Given the description of an element on the screen output the (x, y) to click on. 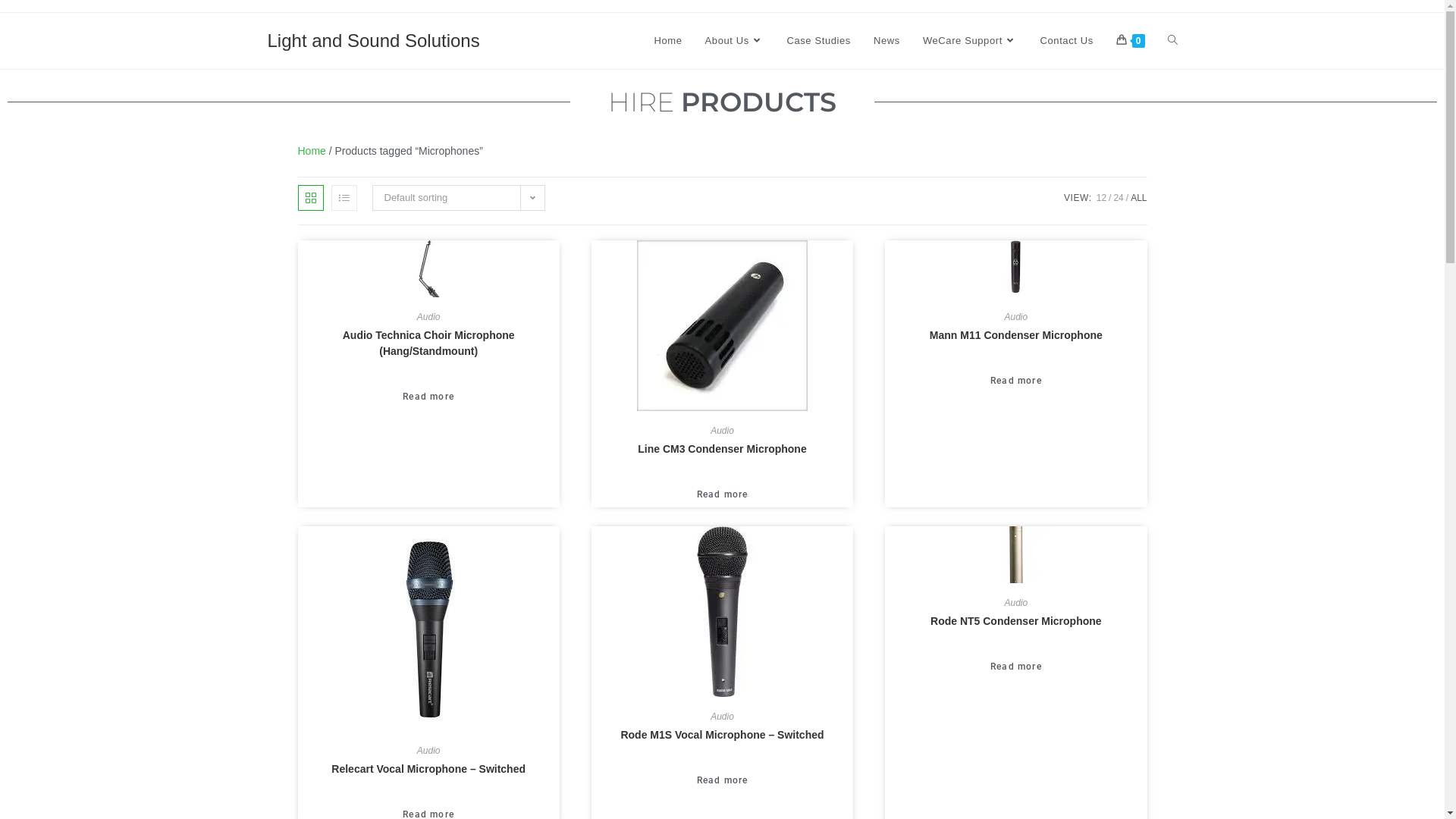
Home Element type: text (667, 40)
12 Element type: text (1101, 197)
Audio Element type: text (722, 430)
Home Element type: text (311, 150)
Line CM3 Condenser Microphone Element type: text (721, 449)
Read more Element type: text (1016, 380)
Audio Element type: text (1015, 316)
WeCare Support Element type: text (970, 40)
Audio Element type: text (722, 716)
24 Element type: text (1118, 197)
Audio Element type: text (1015, 602)
About Us Element type: text (734, 40)
Audio Element type: text (428, 316)
Read more Element type: text (722, 494)
Read more Element type: text (1016, 666)
Audio Technica Choir Microphone (Hang/Standmount) Element type: text (427, 343)
News Element type: text (886, 40)
List view Element type: hover (343, 197)
0 Element type: text (1130, 40)
Case Studies Element type: text (818, 40)
Read more Element type: text (722, 780)
Grid view Element type: hover (310, 197)
ALL Element type: text (1138, 197)
Audio Element type: text (428, 750)
Mann M11 Condenser Microphone Element type: text (1015, 335)
Light and Sound Solutions Element type: text (372, 40)
Read more Element type: text (428, 396)
Contact Us Element type: text (1066, 40)
Rode NT5 Condenser Microphone Element type: text (1015, 621)
